Given the description of an element on the screen output the (x, y) to click on. 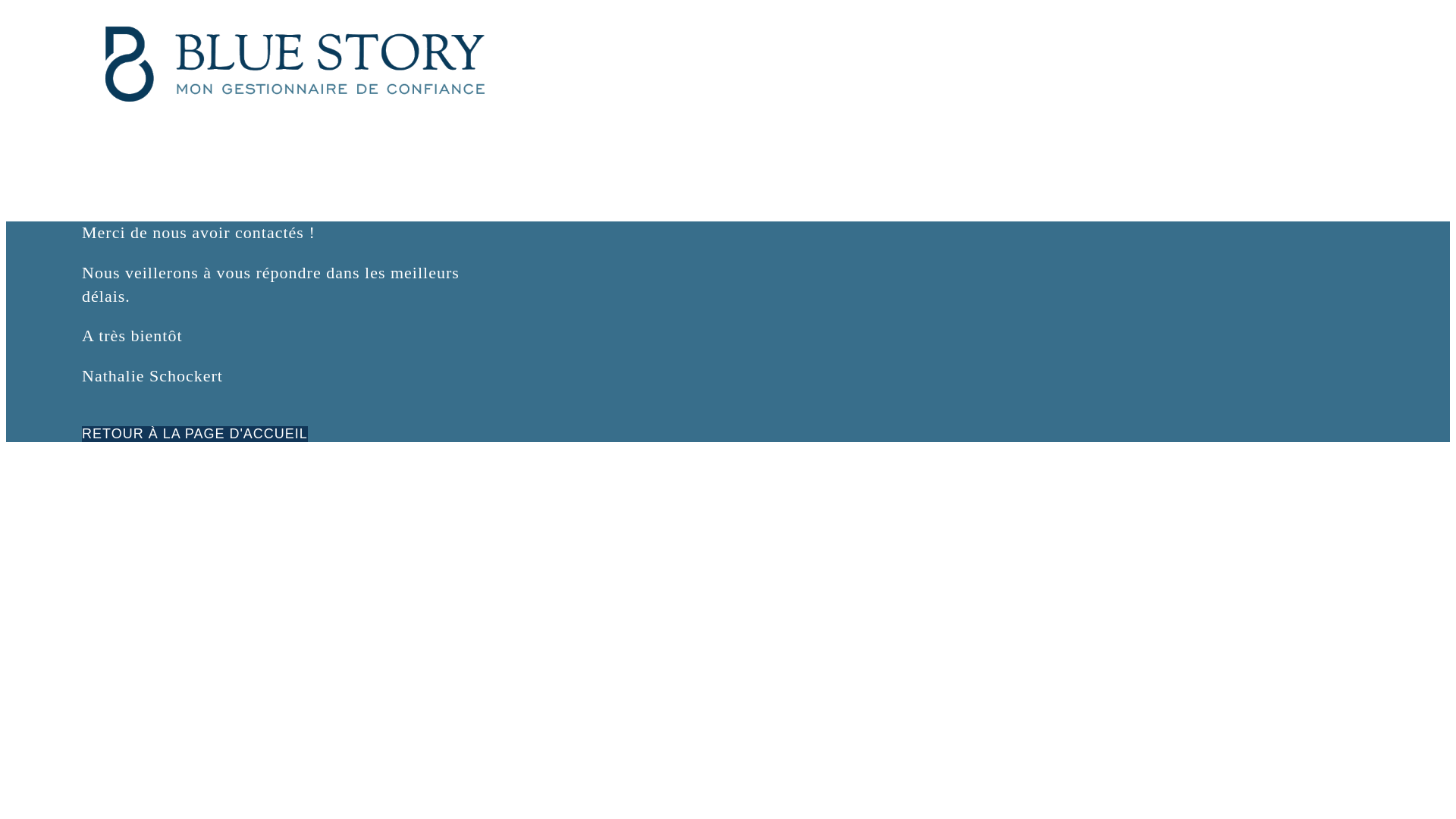
BLUESTORY_logo_site Element type: hover (294, 63)
